Given the description of an element on the screen output the (x, y) to click on. 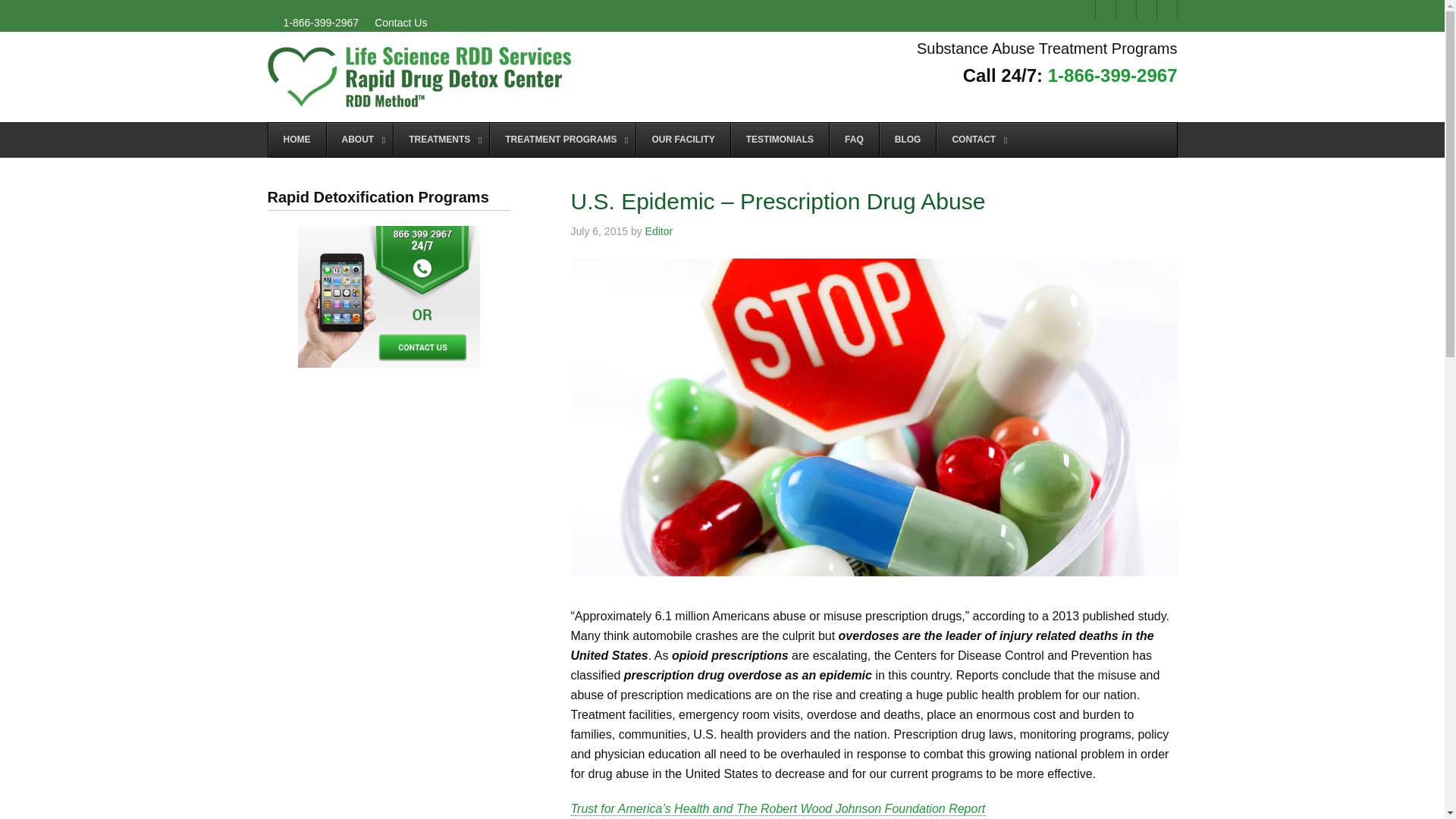
HOME (296, 140)
1-866-399-2967 (1112, 75)
Rapid Drug Detox (418, 76)
TREATMENTS (441, 140)
TREATMENT PROGRAMS (561, 140)
OUR FACILITY (681, 140)
FAQ (853, 140)
CONTACT (975, 140)
ABOUT (359, 140)
TESTIMONIALS (779, 140)
